Given the description of an element on the screen output the (x, y) to click on. 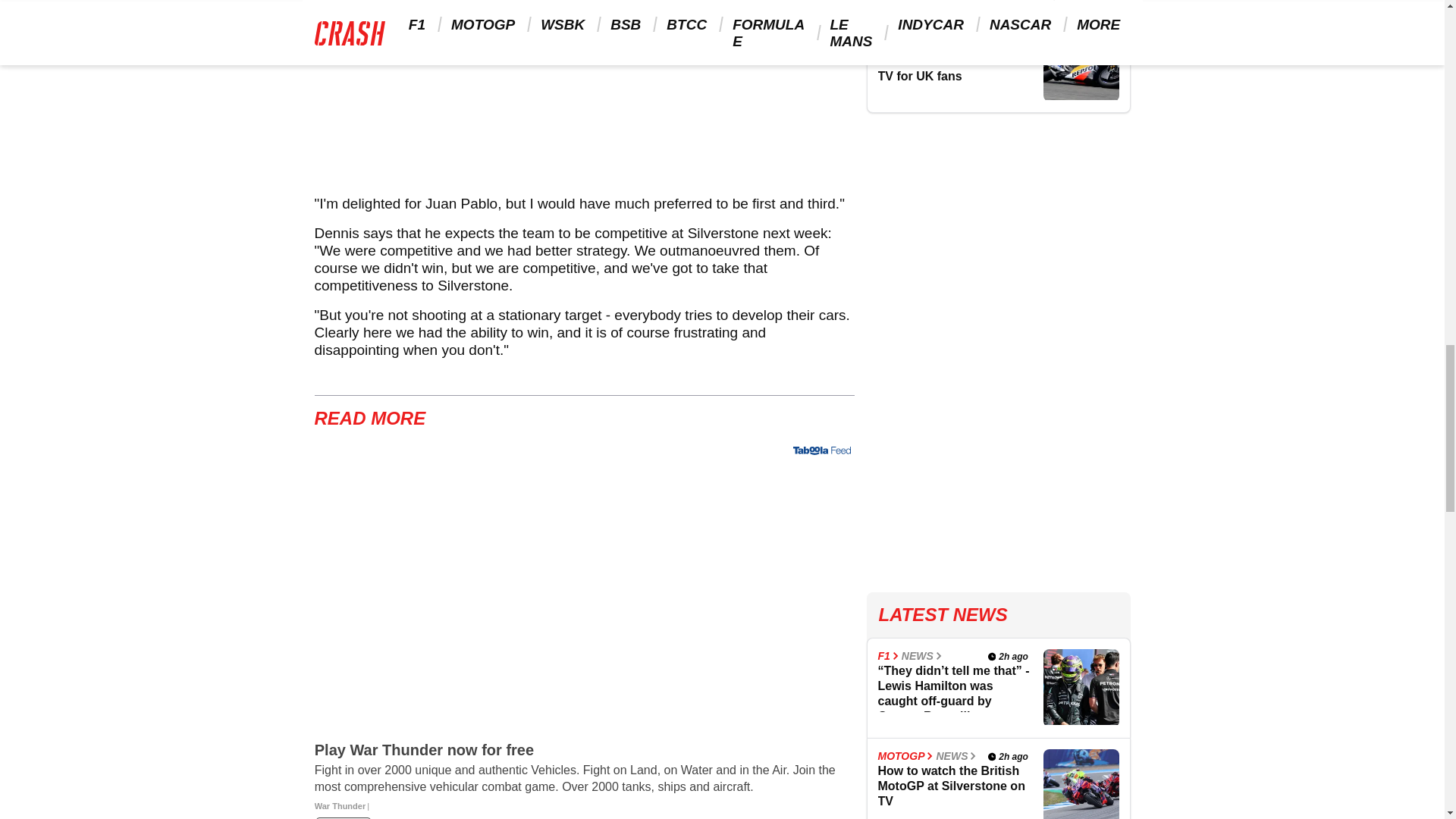
Play War Thunder now for free (584, 779)
